Given the description of an element on the screen output the (x, y) to click on. 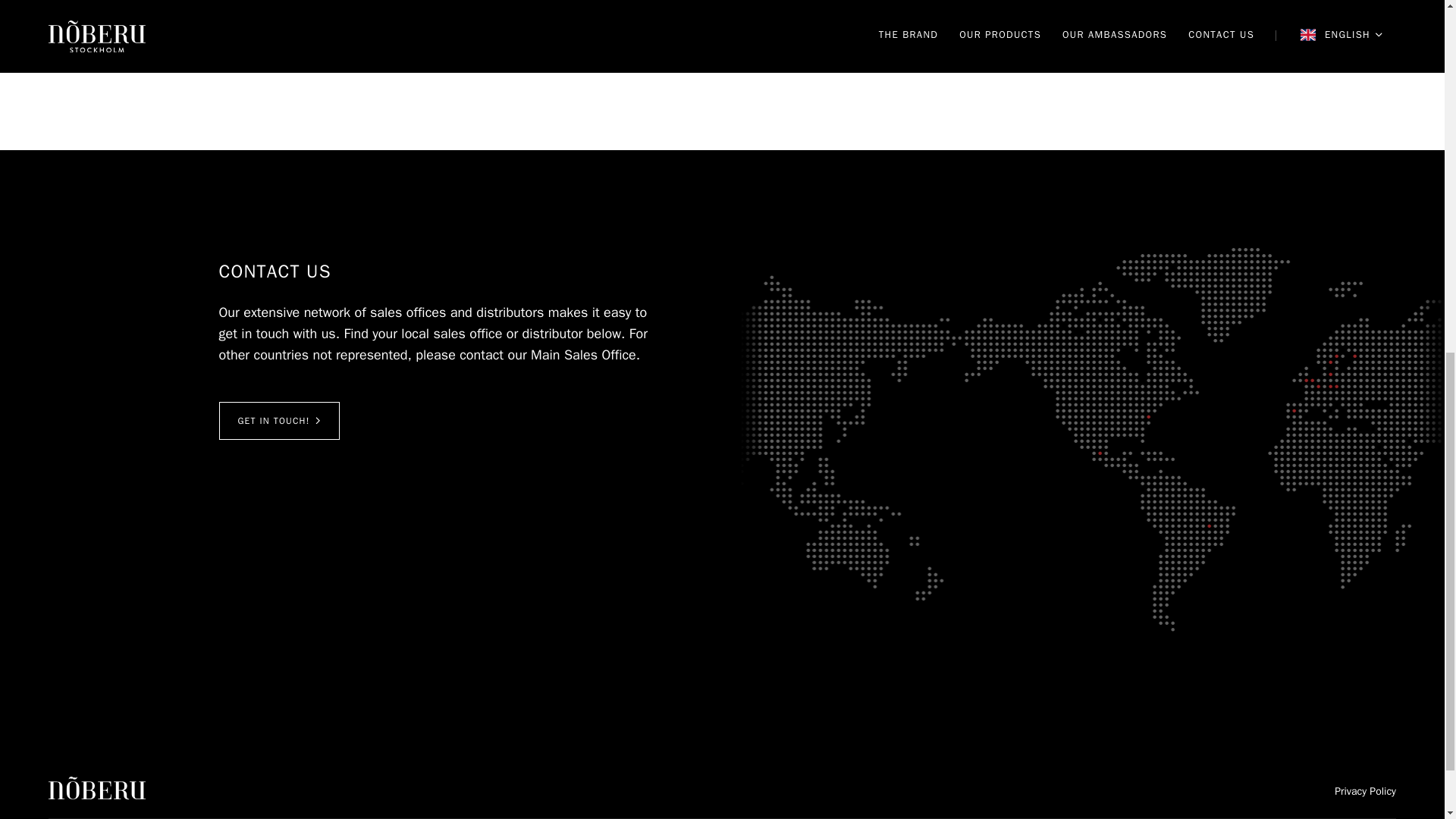
GET IN TOUCH! (278, 420)
Privacy Policy (1365, 791)
